Given the description of an element on the screen output the (x, y) to click on. 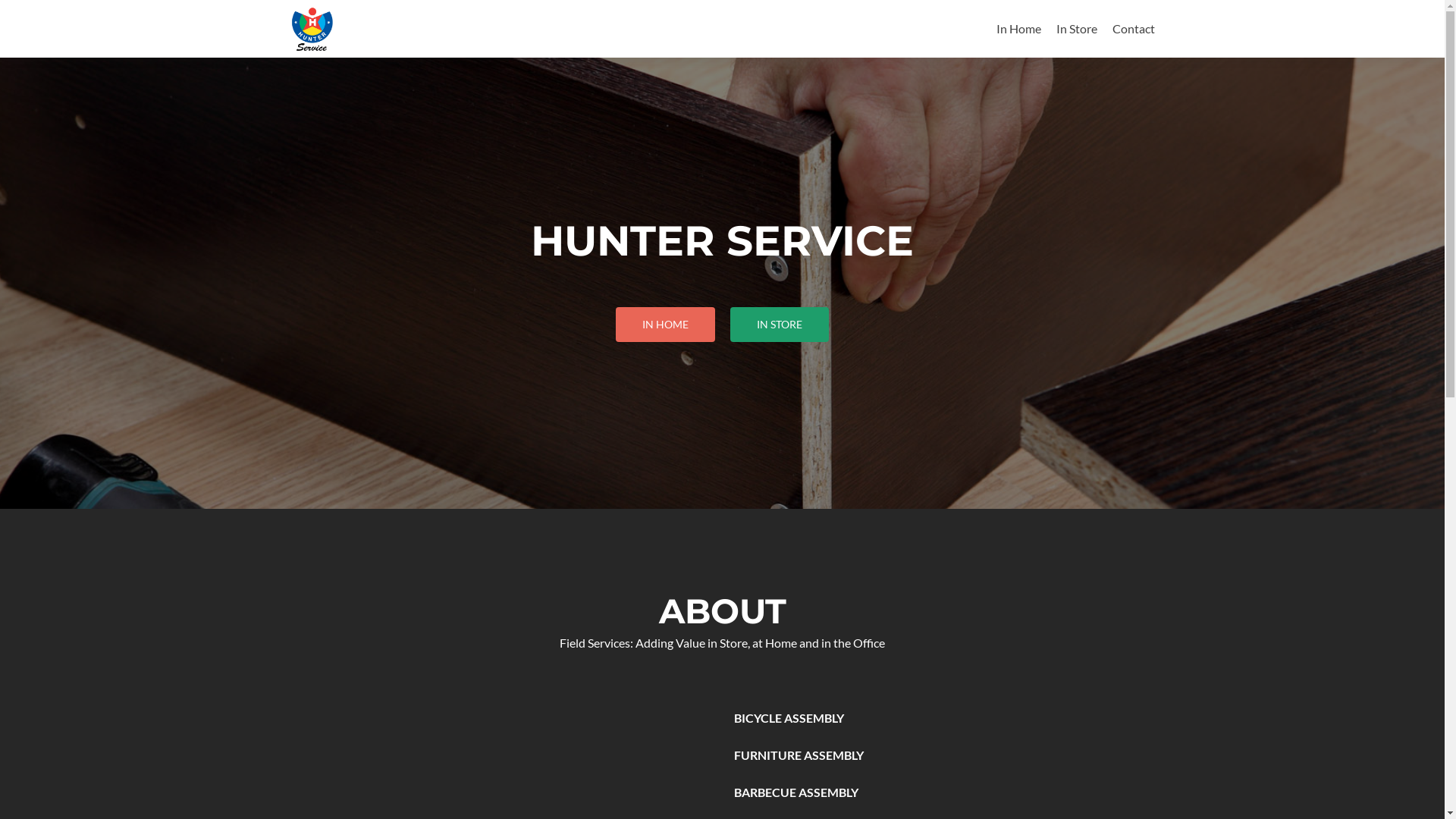
In Store Element type: text (1075, 28)
IN HOME Element type: text (665, 324)
IN STORE Element type: text (779, 324)
Contact Element type: text (1132, 28)
In Home Element type: text (1018, 28)
Skip to content Element type: text (1035, 9)
